Given the description of an element on the screen output the (x, y) to click on. 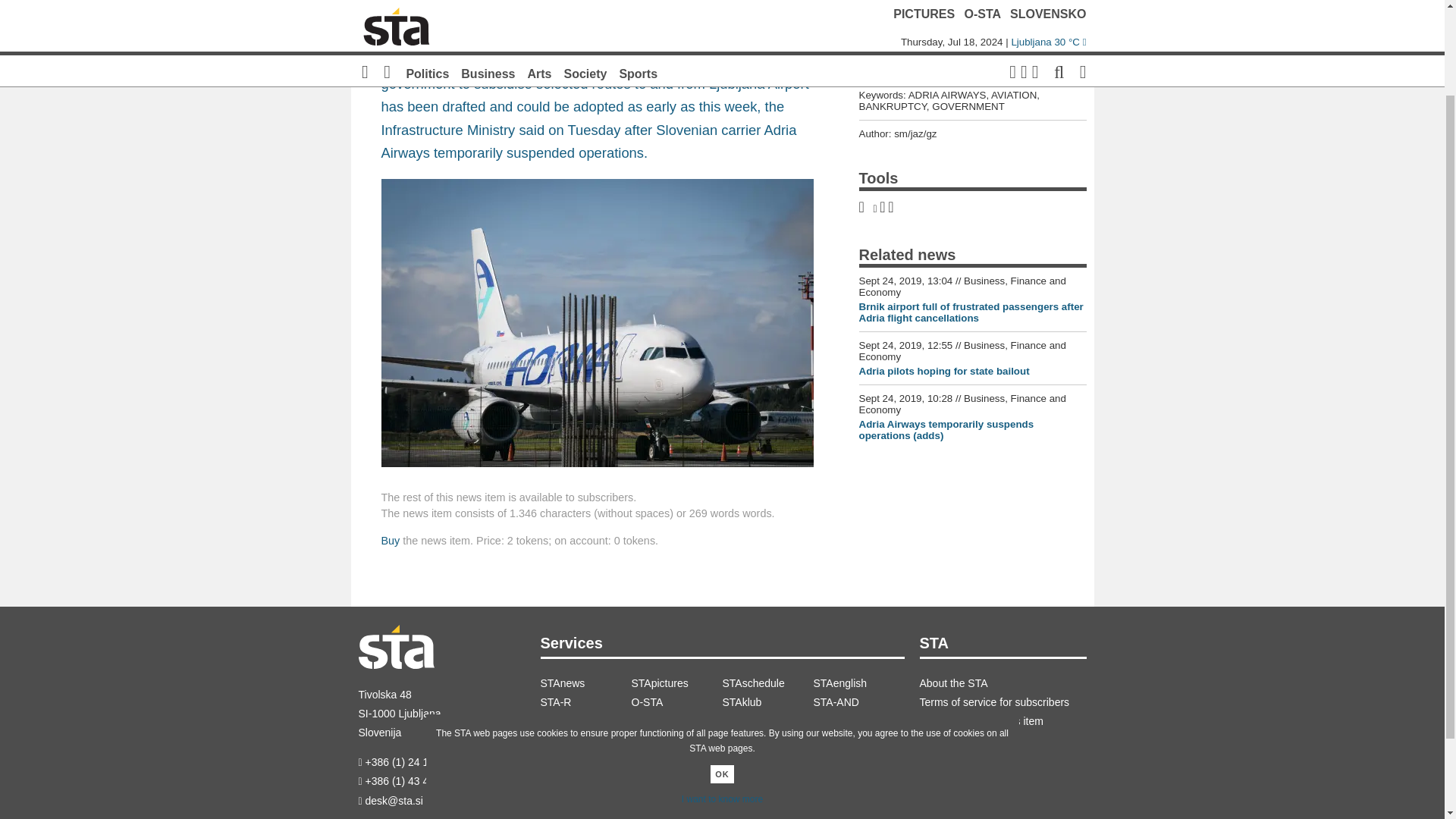
Adria pilots hoping for state bailout (944, 370)
Buy (389, 540)
STAschedule (767, 683)
STAmisli (676, 721)
STAnews (585, 683)
Public service (767, 721)
STA-M (858, 721)
STAklub (767, 701)
STAenglish (858, 683)
STA-AND (858, 701)
O-STA (676, 701)
STApictures (676, 683)
STAkrog (585, 721)
STA-R (585, 701)
